Given the description of an element on the screen output the (x, y) to click on. 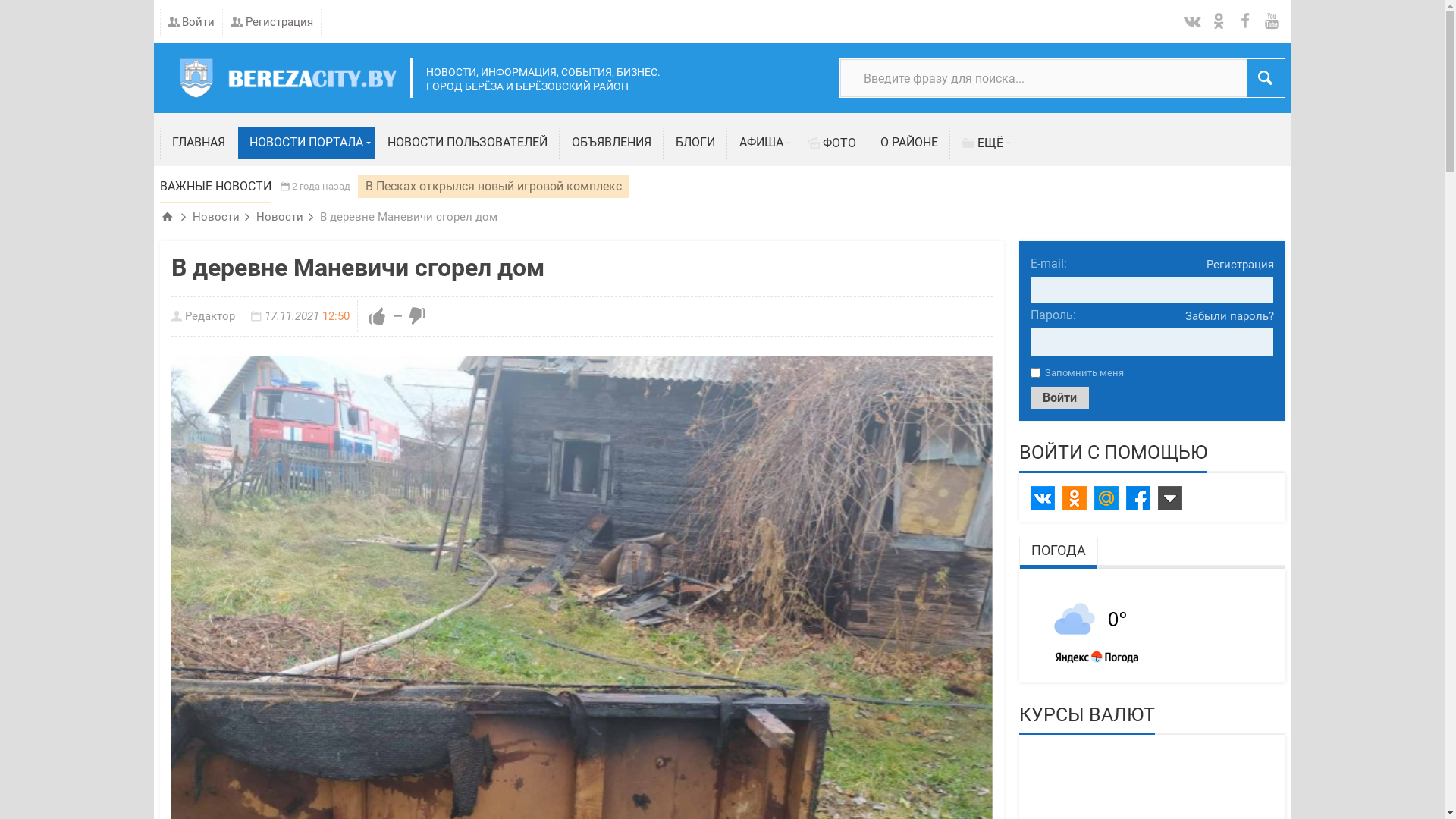
Odnoklassniki Element type: hover (1073, 498)
VK Element type: hover (1041, 498)
Mail.ru Element type: hover (1105, 498)
Facebook Element type: hover (1137, 498)
